Given the description of an element on the screen output the (x, y) to click on. 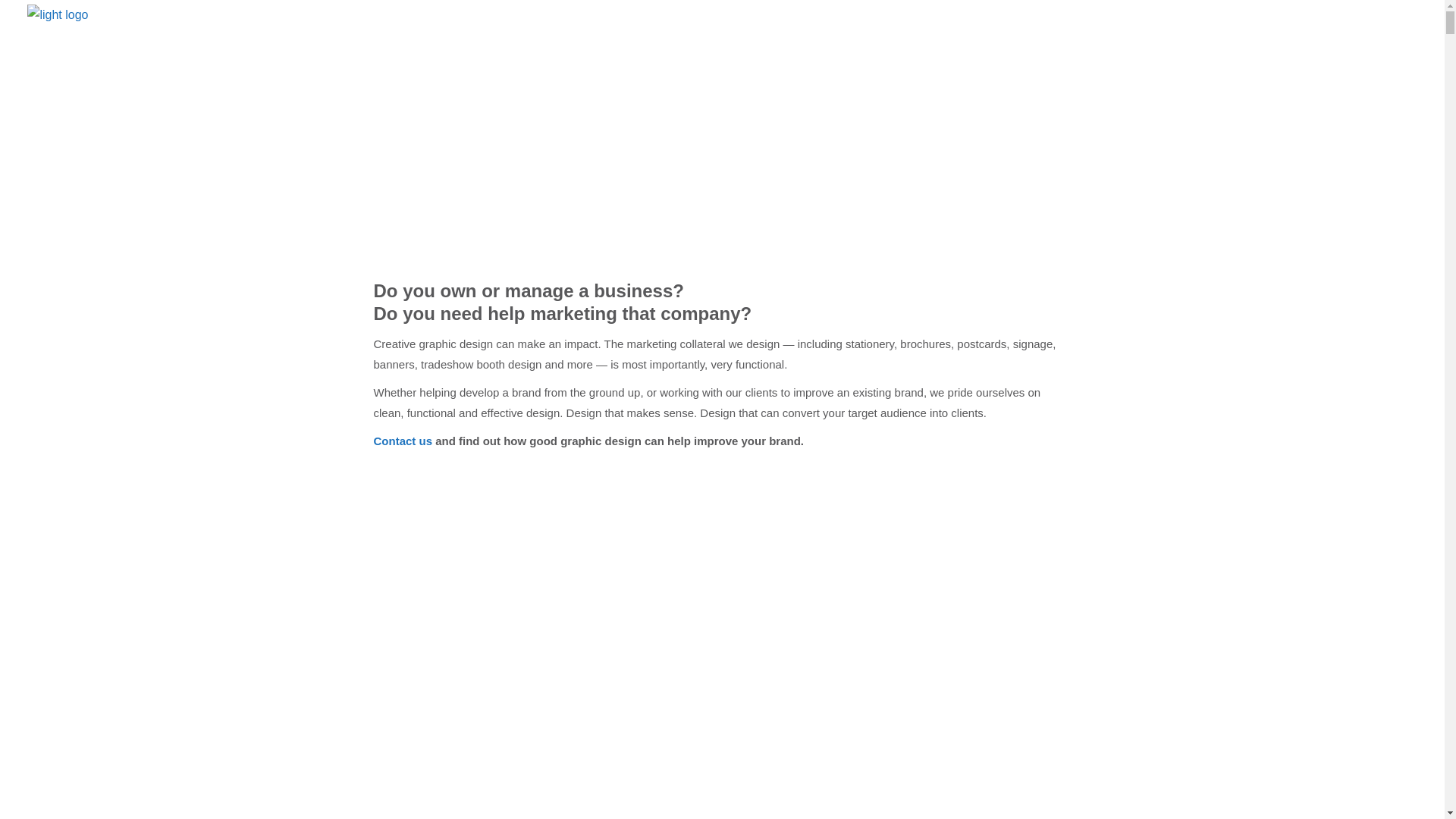
instagram Element type: text (1370, 45)
About Element type: text (951, 45)
Home Element type: text (890, 45)
Contact us Element type: text (402, 440)
Services Element type: text (1101, 45)
Connect Element type: text (1284, 45)
Branding Element type: text (1022, 45)
Case Studies Element type: text (1192, 45)
